Given the description of an element on the screen output the (x, y) to click on. 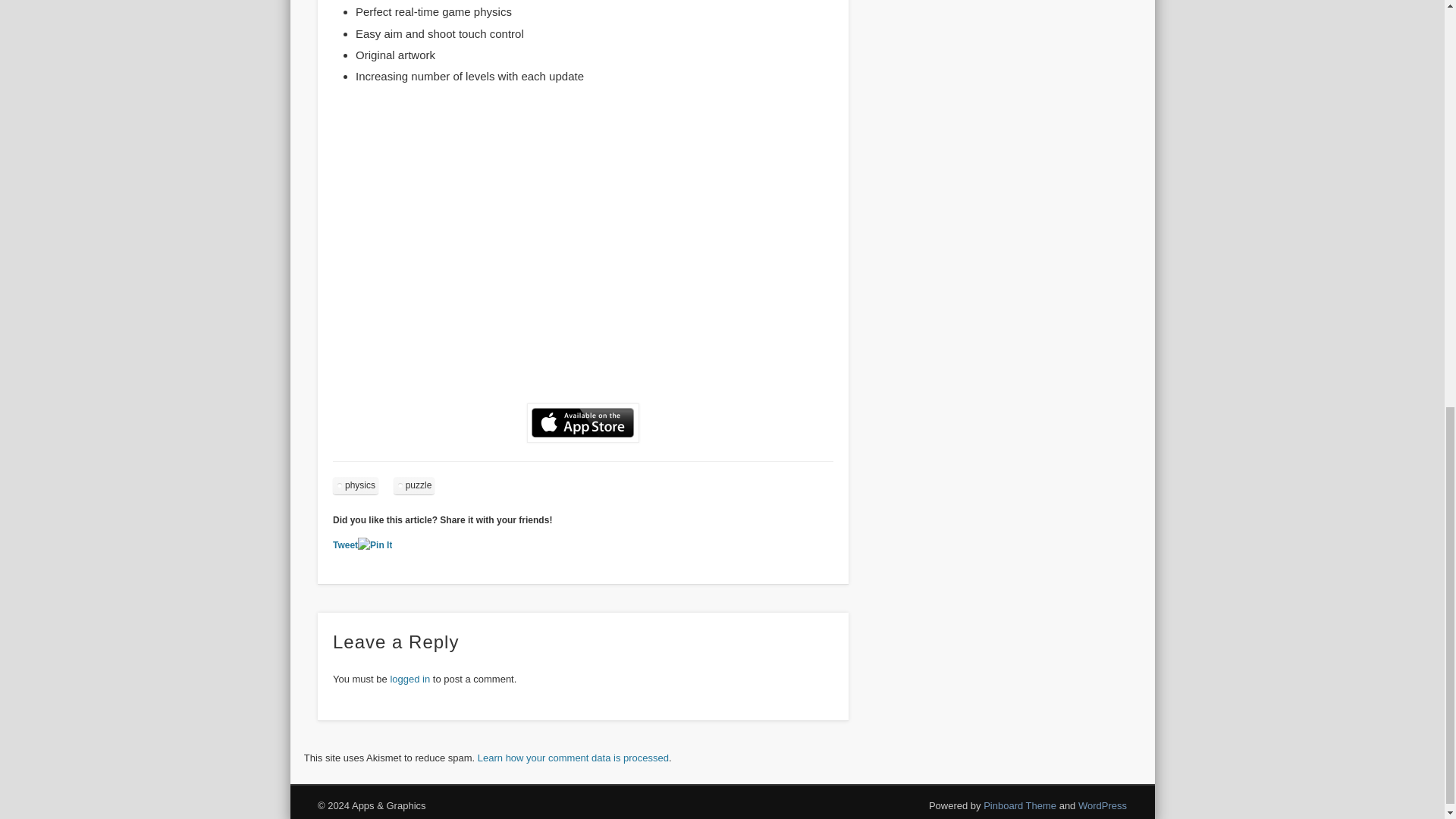
Pinboard Theme (1020, 805)
AppStoreBadge (583, 423)
Learn how your comment data is processed (572, 757)
logged in (409, 678)
puzzle (414, 485)
Pin It (374, 545)
WordPress (1102, 805)
Tweet (345, 544)
physics (355, 485)
Pinboard Theme (1020, 805)
